Given the description of an element on the screen output the (x, y) to click on. 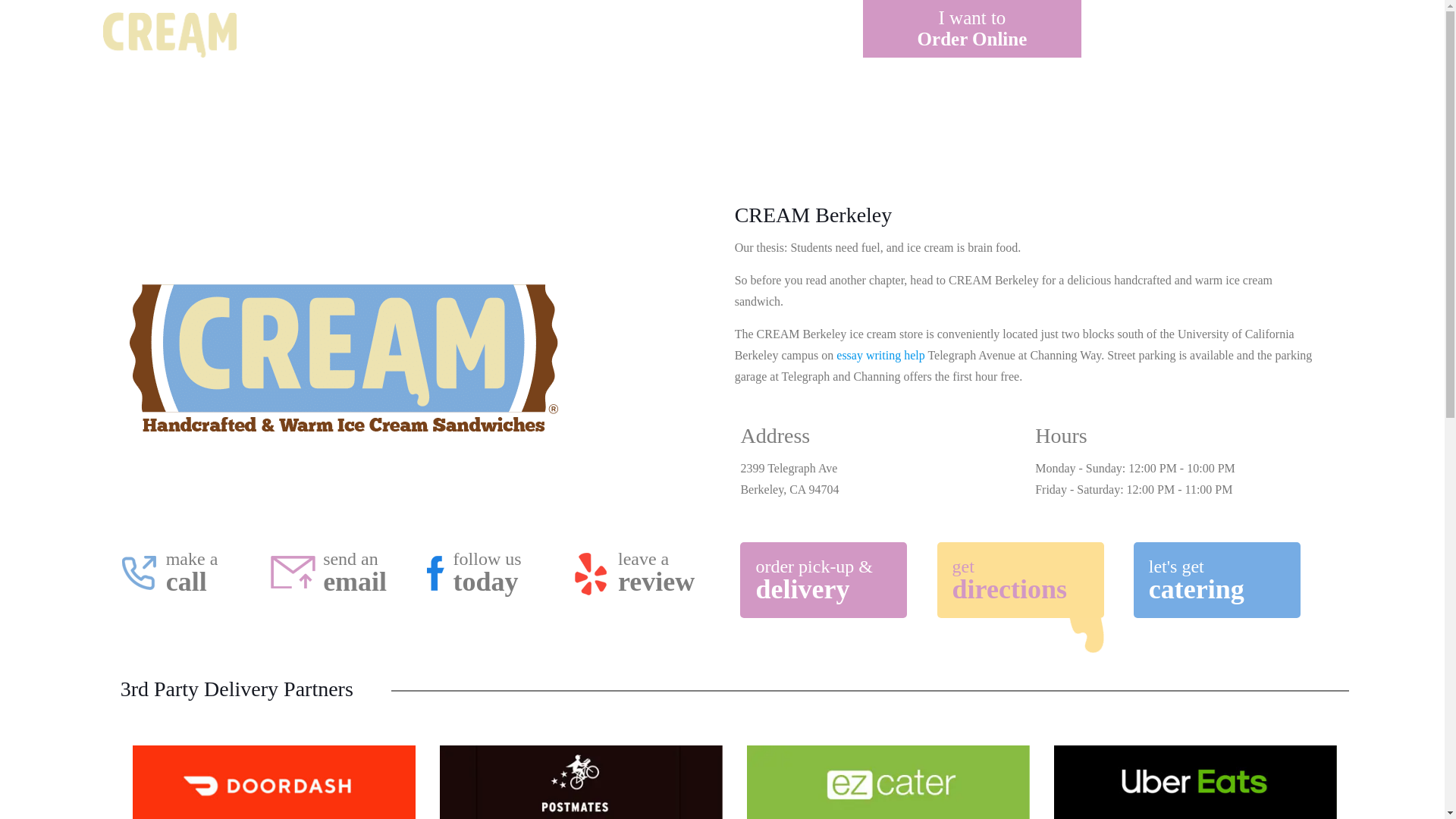
Menu (972, 28)
About (335, 574)
follow us today (320, 33)
ICE CREAM SANDWICH (494, 33)
leave a review (487, 574)
make a call (1020, 580)
learn more (168, 33)
send an email (1220, 28)
